Given the description of an element on the screen output the (x, y) to click on. 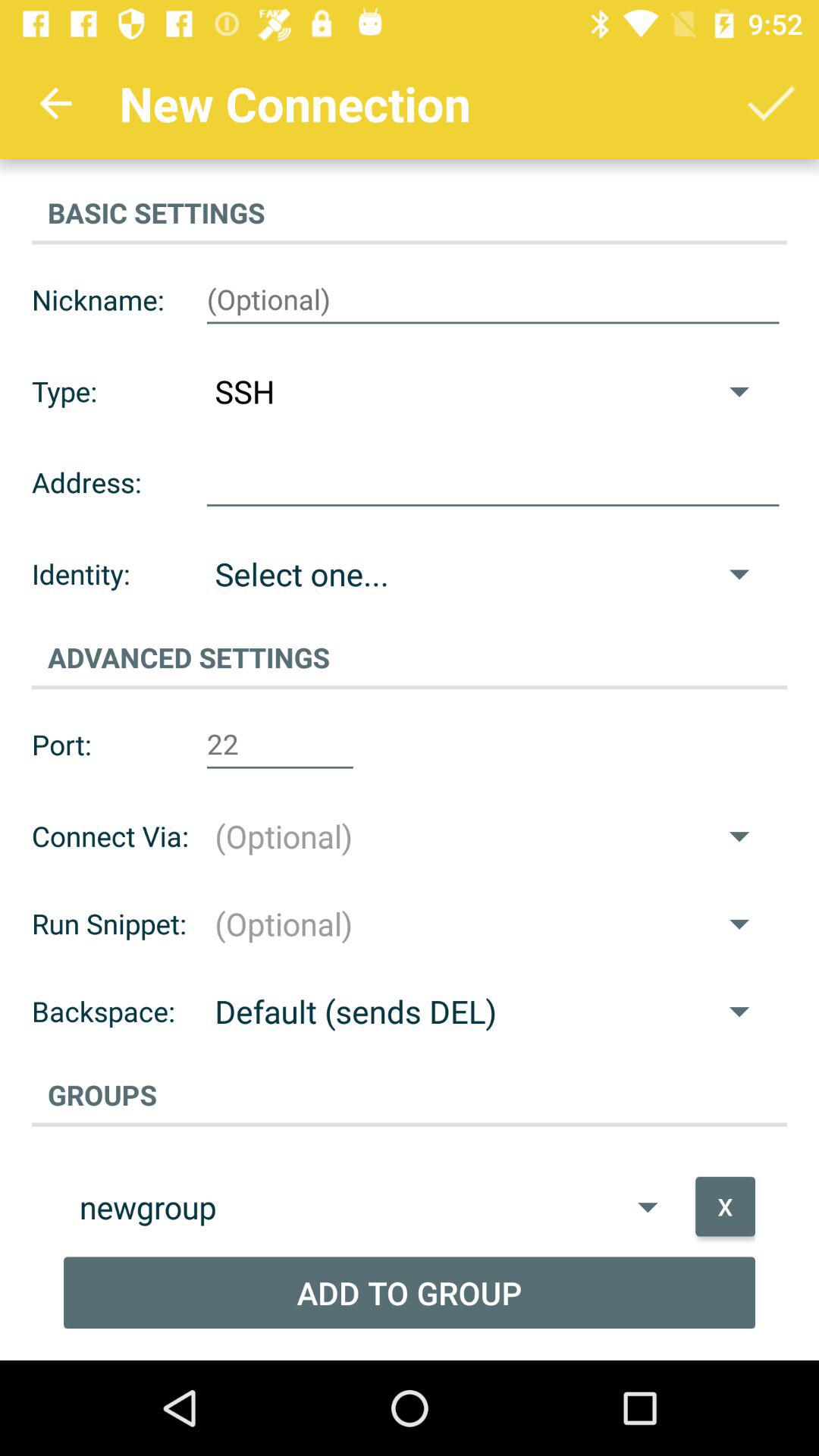
enter port (280, 744)
